Given the description of an element on the screen output the (x, y) to click on. 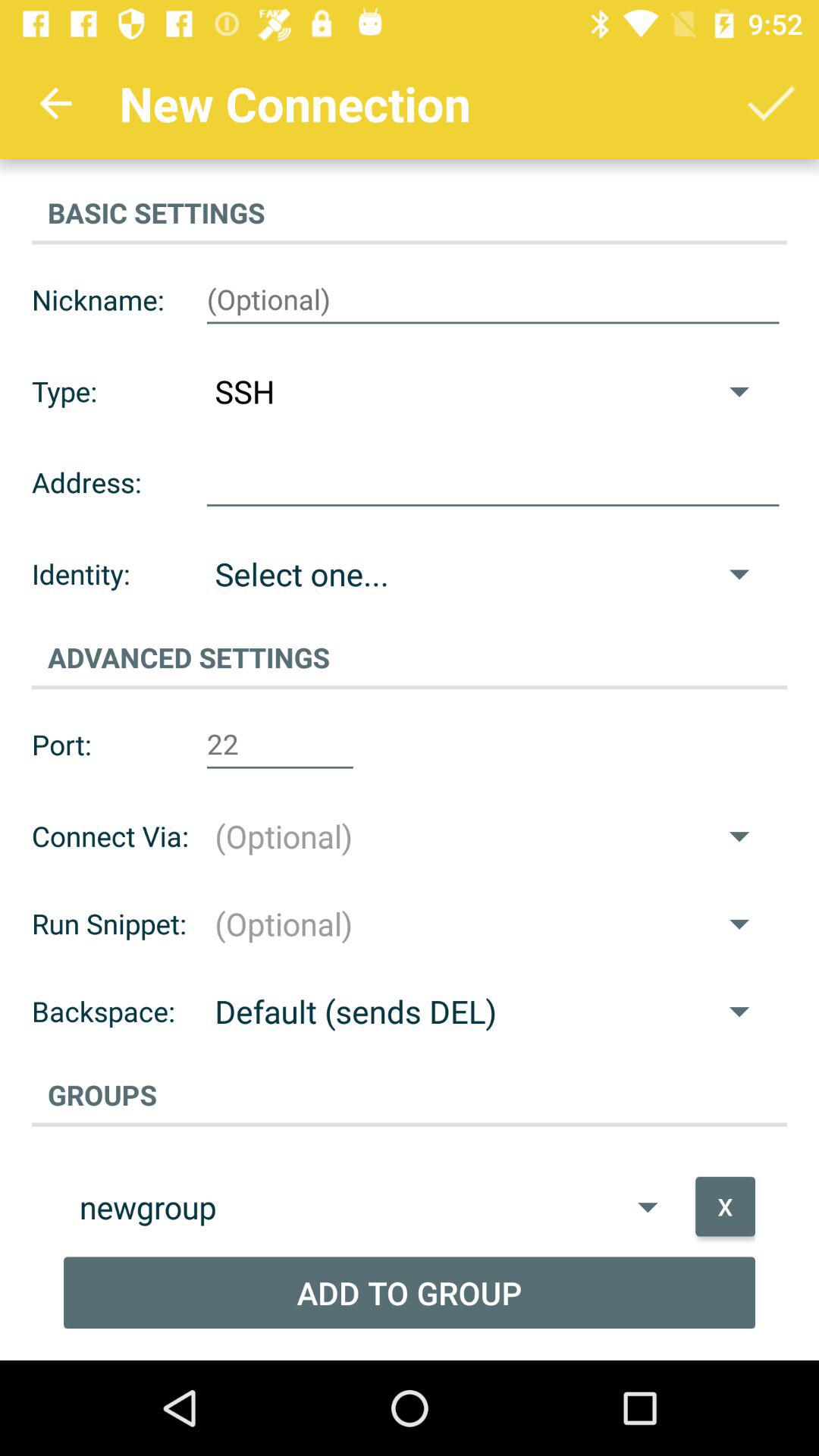
enter port (280, 744)
